Given the description of an element on the screen output the (x, y) to click on. 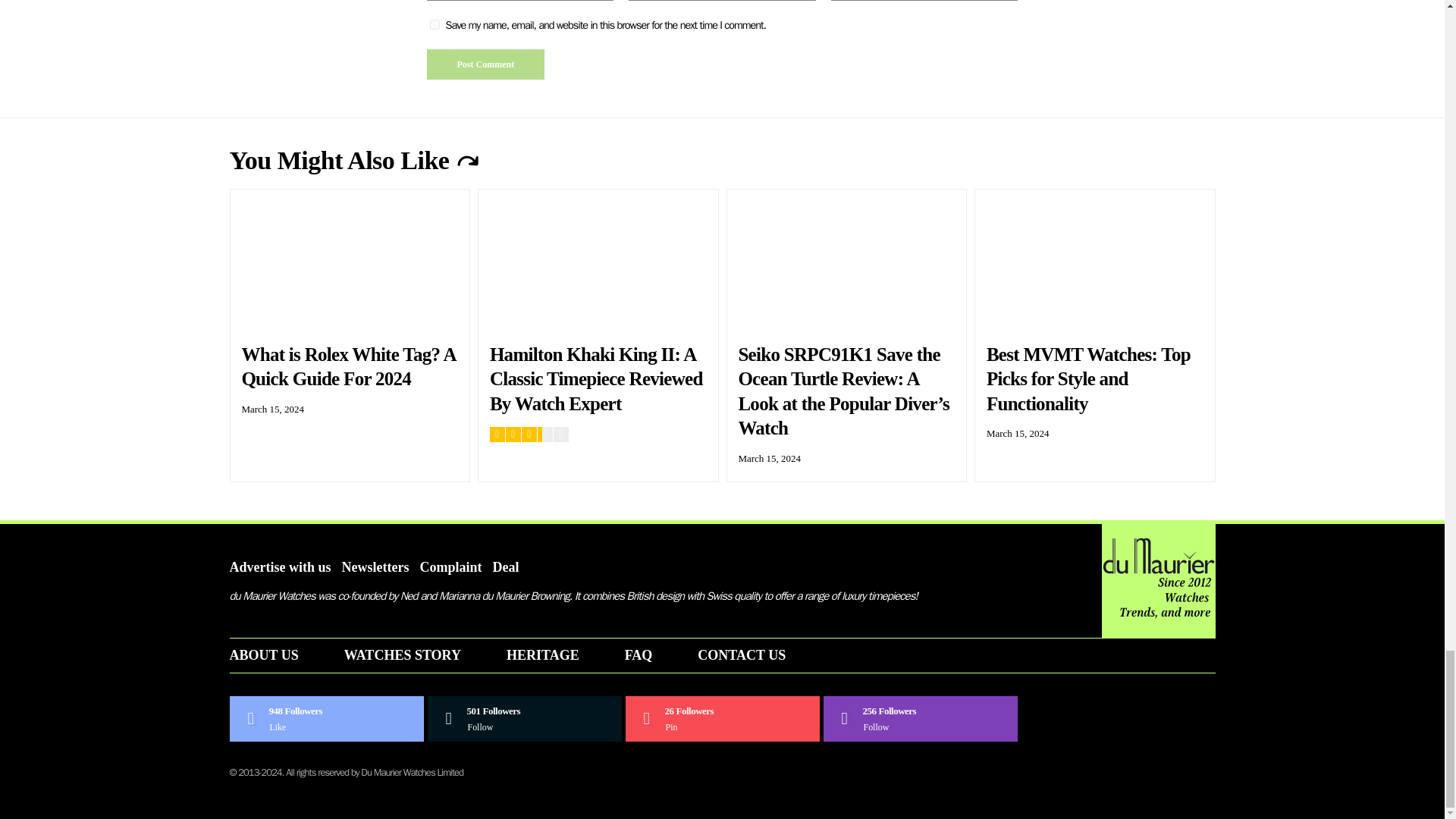
Post Comment (485, 64)
yes (434, 24)
